Given the description of an element on the screen output the (x, y) to click on. 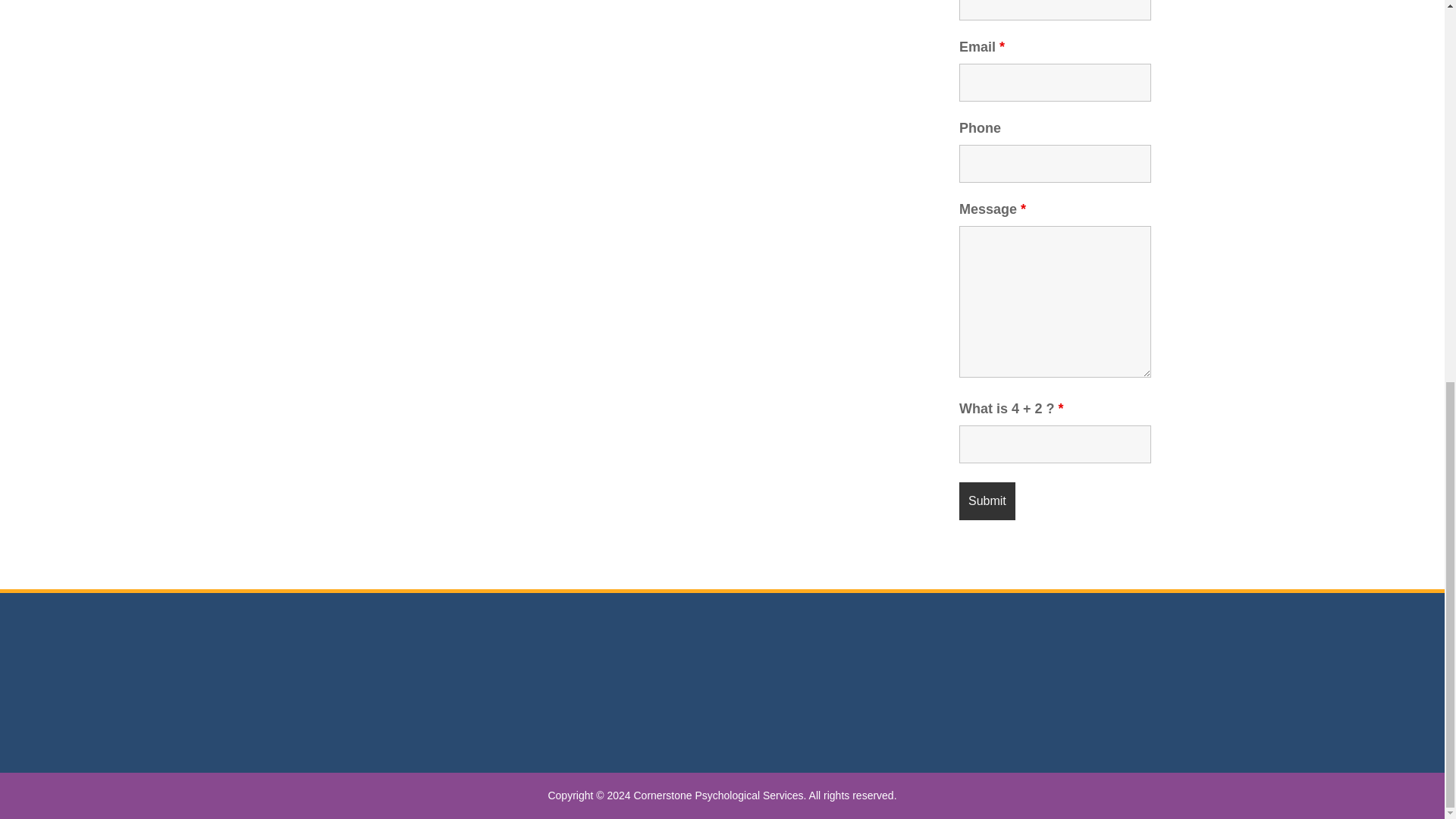
Submit (986, 501)
